Given the description of an element on the screen output the (x, y) to click on. 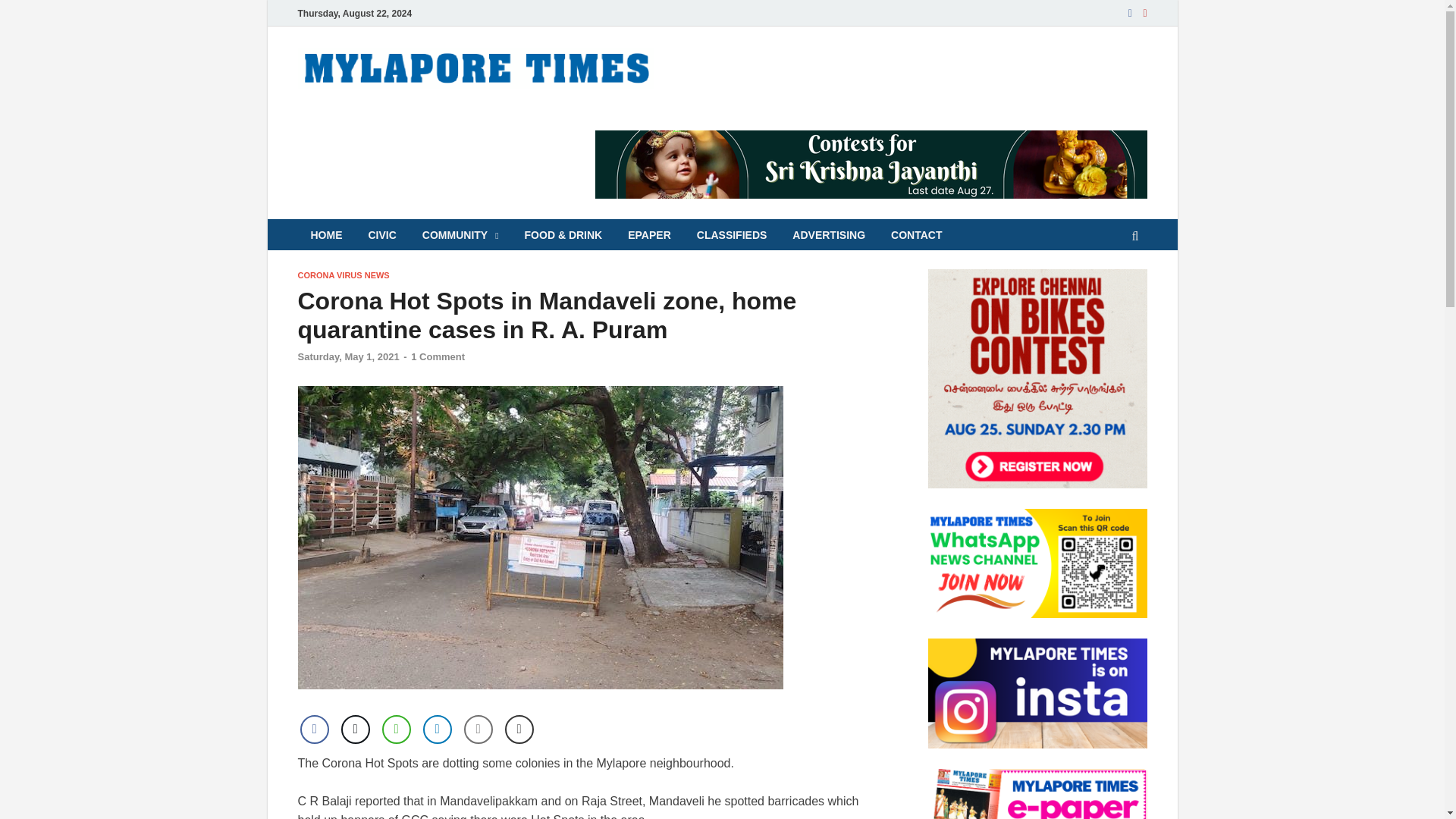
Saturday, May 1, 2021 (347, 356)
CLASSIFIEDS (732, 234)
MYLAPORE TIMES (788, 78)
CIVIC (382, 234)
EPAPER (649, 234)
CONTACT (916, 234)
COMMUNITY (460, 234)
CORONA VIRUS NEWS (342, 275)
ADVERTISING (827, 234)
1 Comment (437, 356)
